Given the description of an element on the screen output the (x, y) to click on. 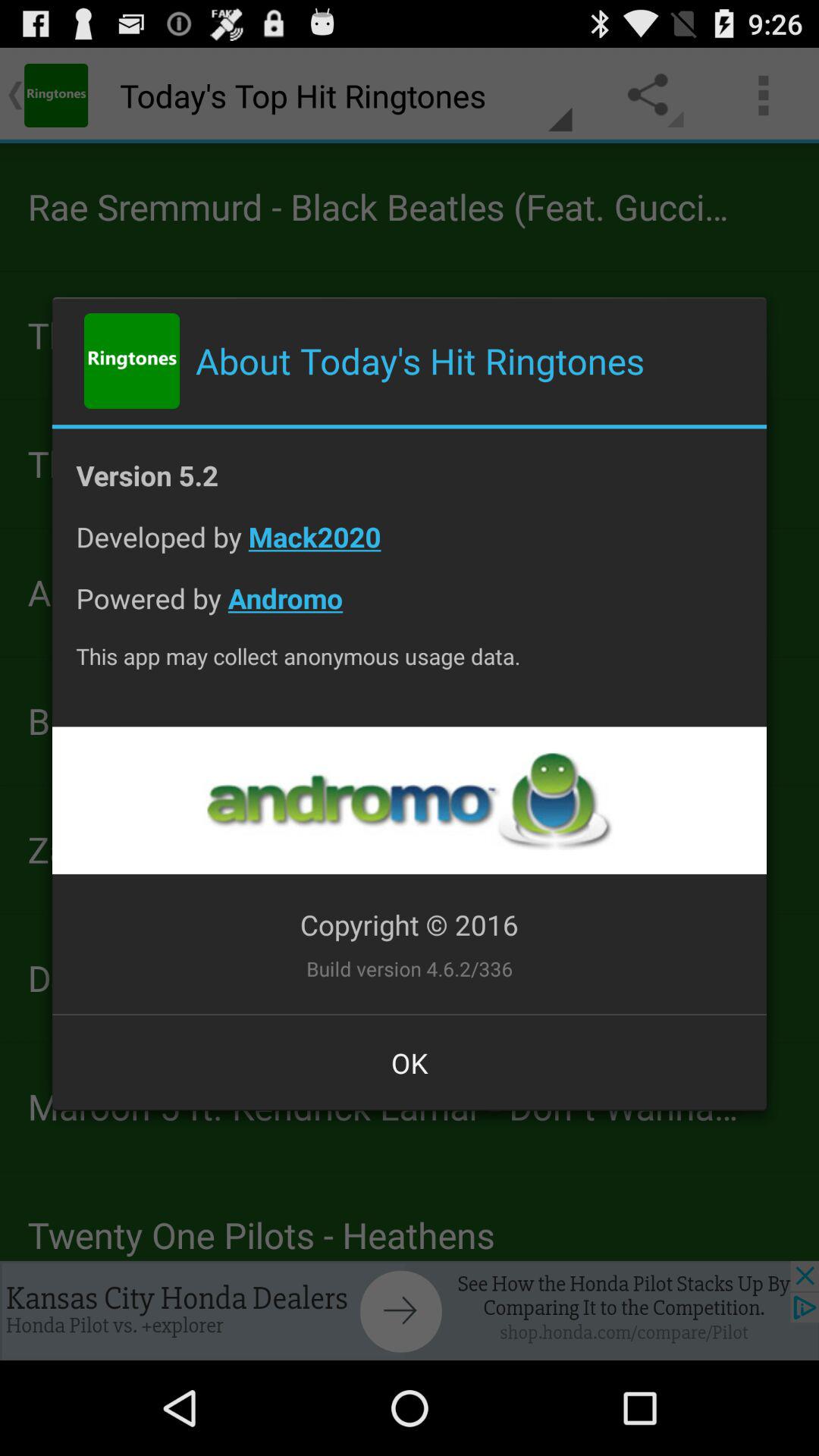
launch icon below the developed by mack2020 item (409, 609)
